Given the description of an element on the screen output the (x, y) to click on. 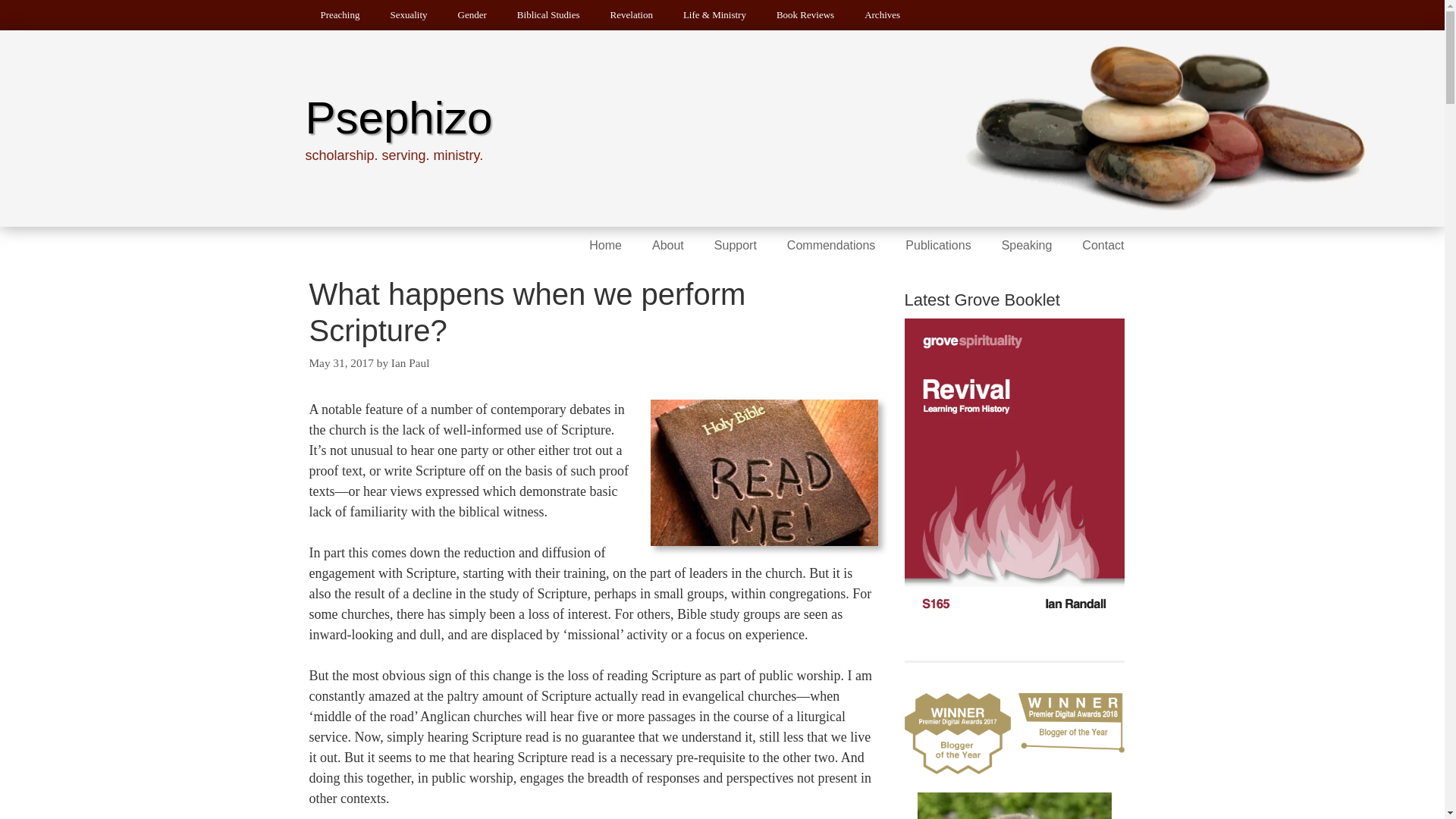
About (667, 245)
Psephizo (398, 117)
Publications (937, 245)
View all posts by Ian Paul (410, 362)
Gender (472, 15)
Home (605, 245)
Sexuality (408, 15)
Contact (1102, 245)
Book Reviews (804, 15)
Support (734, 245)
